Given the description of an element on the screen output the (x, y) to click on. 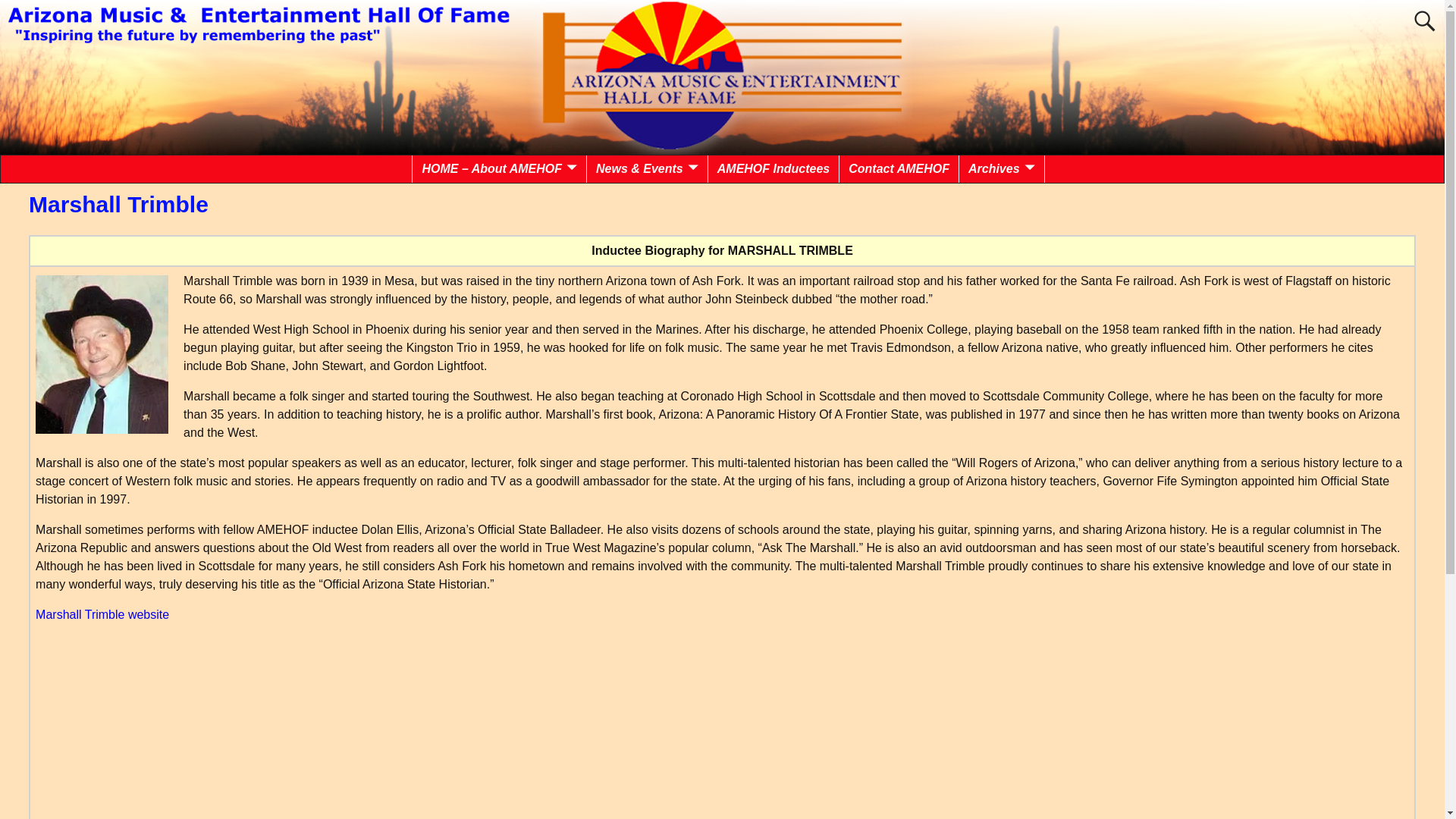
Marshall Trimble website (101, 614)
Archives (1002, 168)
AMEHOF Inductees (773, 168)
Contact AMEHOF (899, 168)
